Given the description of an element on the screen output the (x, y) to click on. 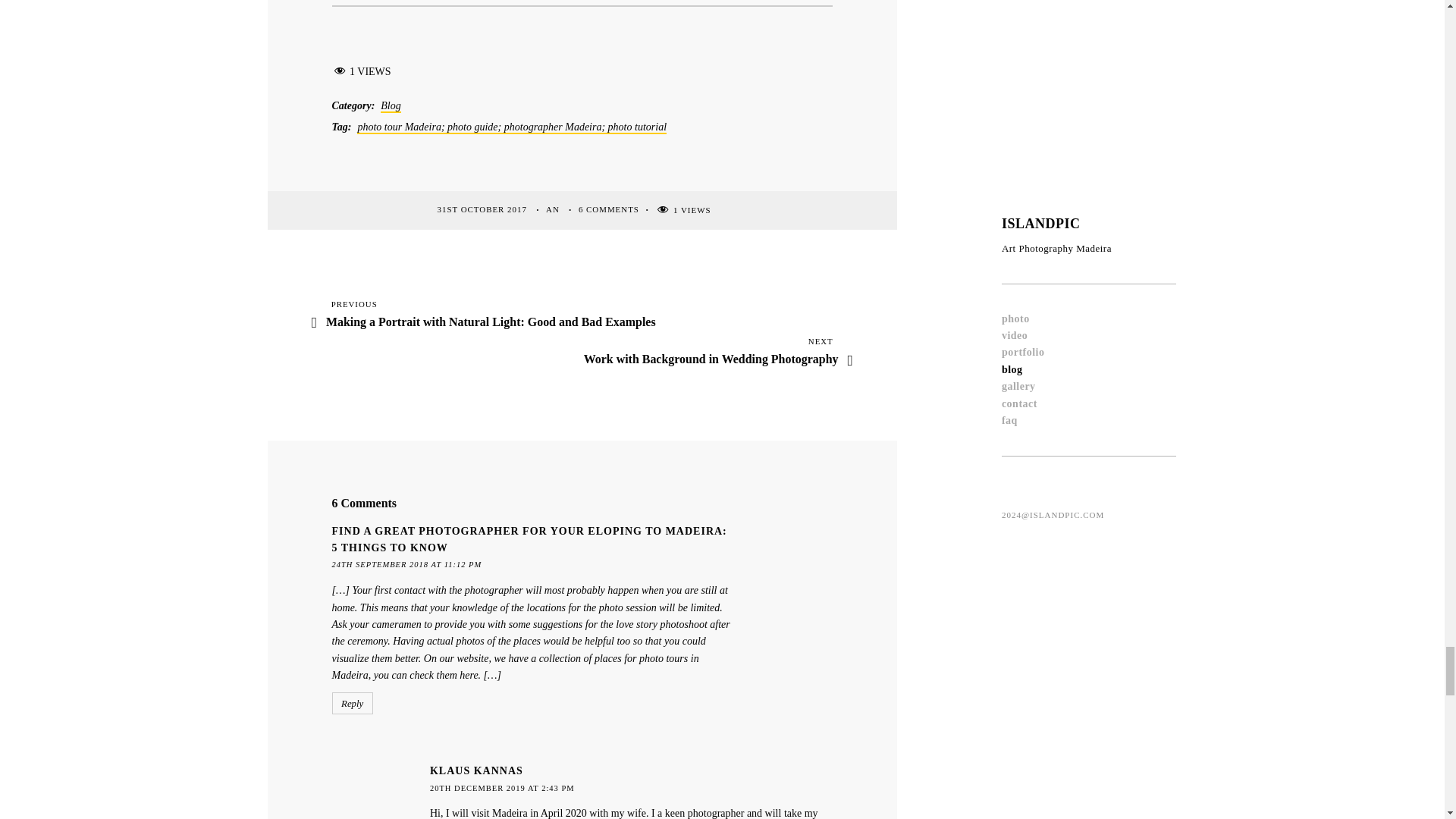
October 31, 2017 (482, 208)
